Given the description of an element on the screen output the (x, y) to click on. 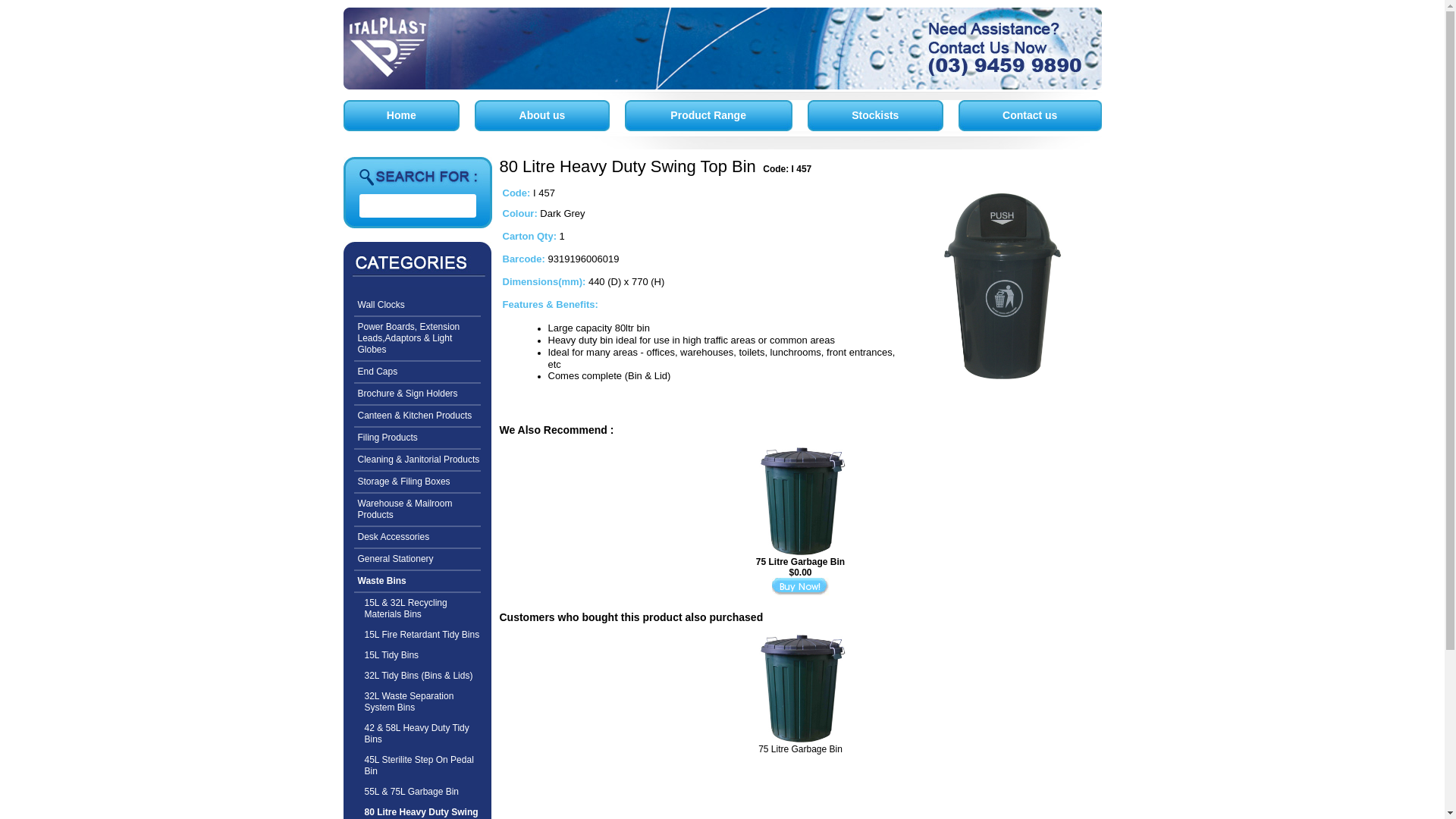
Filing Products Element type: text (416, 438)
55L & 75L Garbage Bin Element type: text (416, 791)
Brochure & Sign Holders Element type: text (416, 394)
Warehouse & Mailroom Products Element type: text (416, 510)
General Stationery Element type: text (416, 560)
Home Element type: text (407, 115)
15L Tidy Bins Element type: text (416, 655)
75 Litre Garbage Bin Element type: text (800, 561)
 75 Litre Garbage Bin  Element type: hover (799, 686)
Product Range Element type: text (714, 115)
15L & 32L Recycling Materials Bins Element type: text (416, 608)
Storage & Filing Boxes Element type: text (416, 482)
Canteen & Kitchen Products Element type: text (416, 416)
15L Fire Retardant Tidy Bins Element type: text (416, 634)
Power Boards, Extension Leads,Adaptors & Light Globes Element type: text (416, 338)
 75 Litre Garbage Bin  Element type: hover (799, 499)
About us Element type: text (547, 115)
32L Tidy Bins (Bins & Lids) Element type: text (416, 675)
Wall Clocks Element type: text (416, 305)
 Buy 1 '75 Litre Garbage Bin' now  Element type: hover (799, 586)
45L Sterilite Step On Pedal Bin Element type: text (416, 765)
 80 Litre Heavy Duty Swing Top Bin  Element type: hover (1000, 285)
Waste Bins Element type: text (416, 582)
32L Waste Separation System Bins Element type: text (416, 702)
Contact us Element type: text (1035, 115)
42 & 58L Heavy Duty Tidy Bins Element type: text (416, 733)
Cleaning & Janitorial Products Element type: text (416, 460)
75 Litre Garbage Bin Element type: text (800, 748)
Stockists Element type: text (881, 115)
End Caps Element type: text (416, 372)
Desk Accessories Element type: text (416, 538)
